Given the description of an element on the screen output the (x, y) to click on. 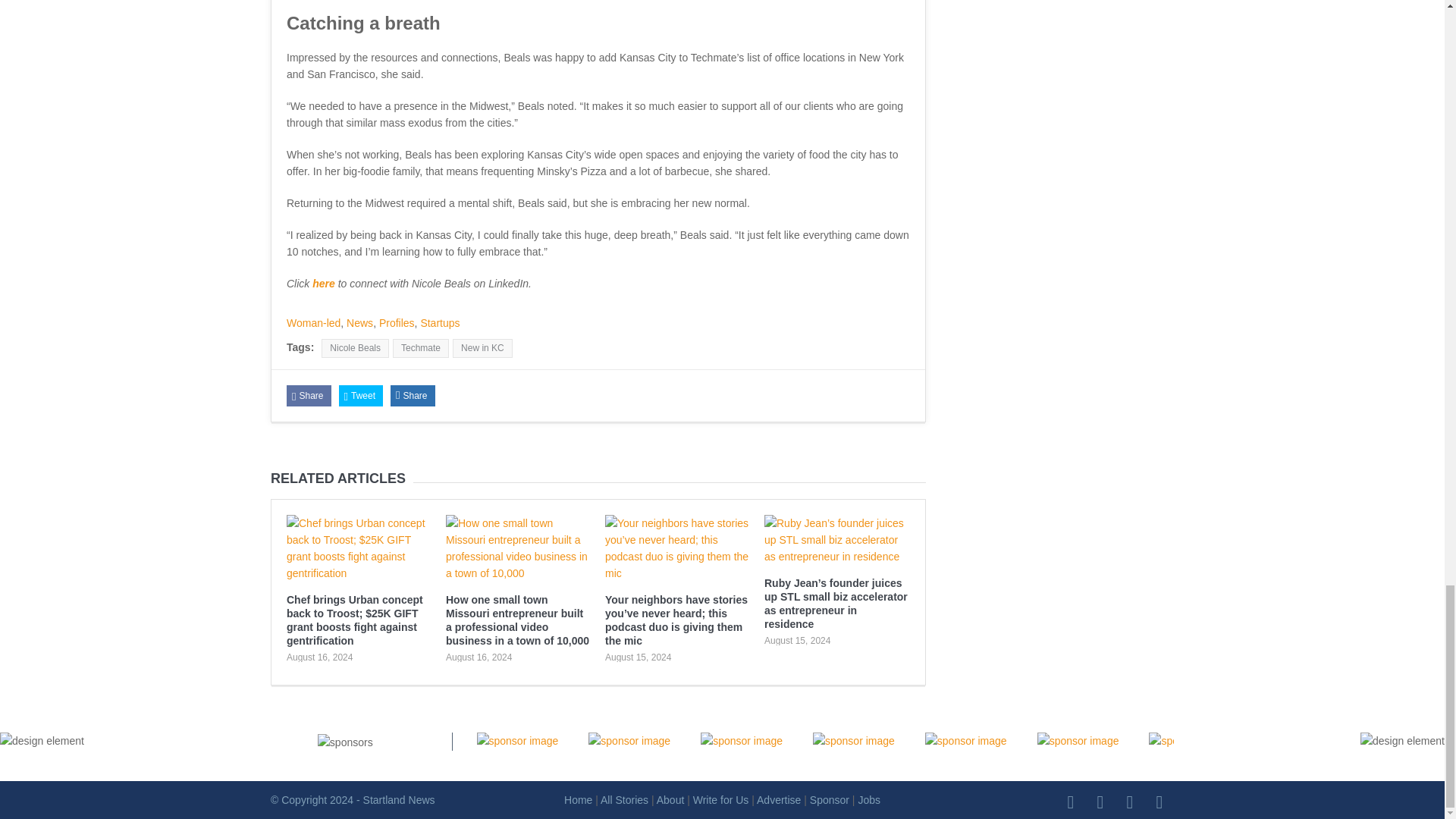
View all posts in Woman-led (313, 322)
View all posts in News (359, 322)
View all posts in Startups (440, 322)
View all posts in Profiles (396, 322)
